Given the description of an element on the screen output the (x, y) to click on. 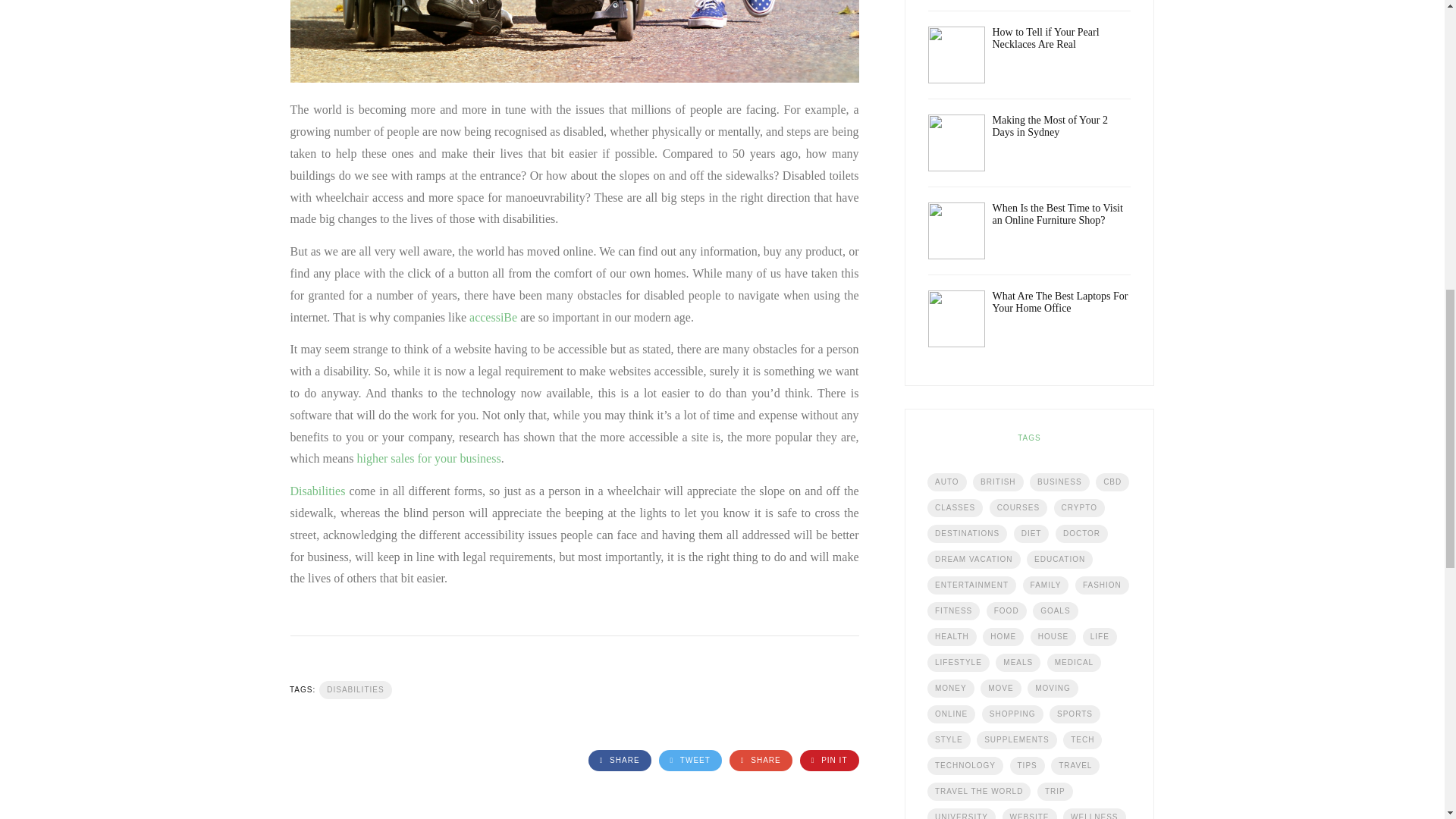
higher sales for your business (428, 458)
Facebook (619, 760)
Twitter (690, 760)
DISABILITIES (354, 689)
Google Plus (760, 760)
accessiBe (492, 317)
Disabilities (317, 490)
Making the Most of Your 2 Days in Sydney (1048, 126)
PIN IT (829, 760)
Pinterest (829, 760)
How to Tell if Your Pearl Necklaces Are Real (1045, 38)
SHARE (619, 760)
TWEET (690, 760)
SHARE (760, 760)
